Given the description of an element on the screen output the (x, y) to click on. 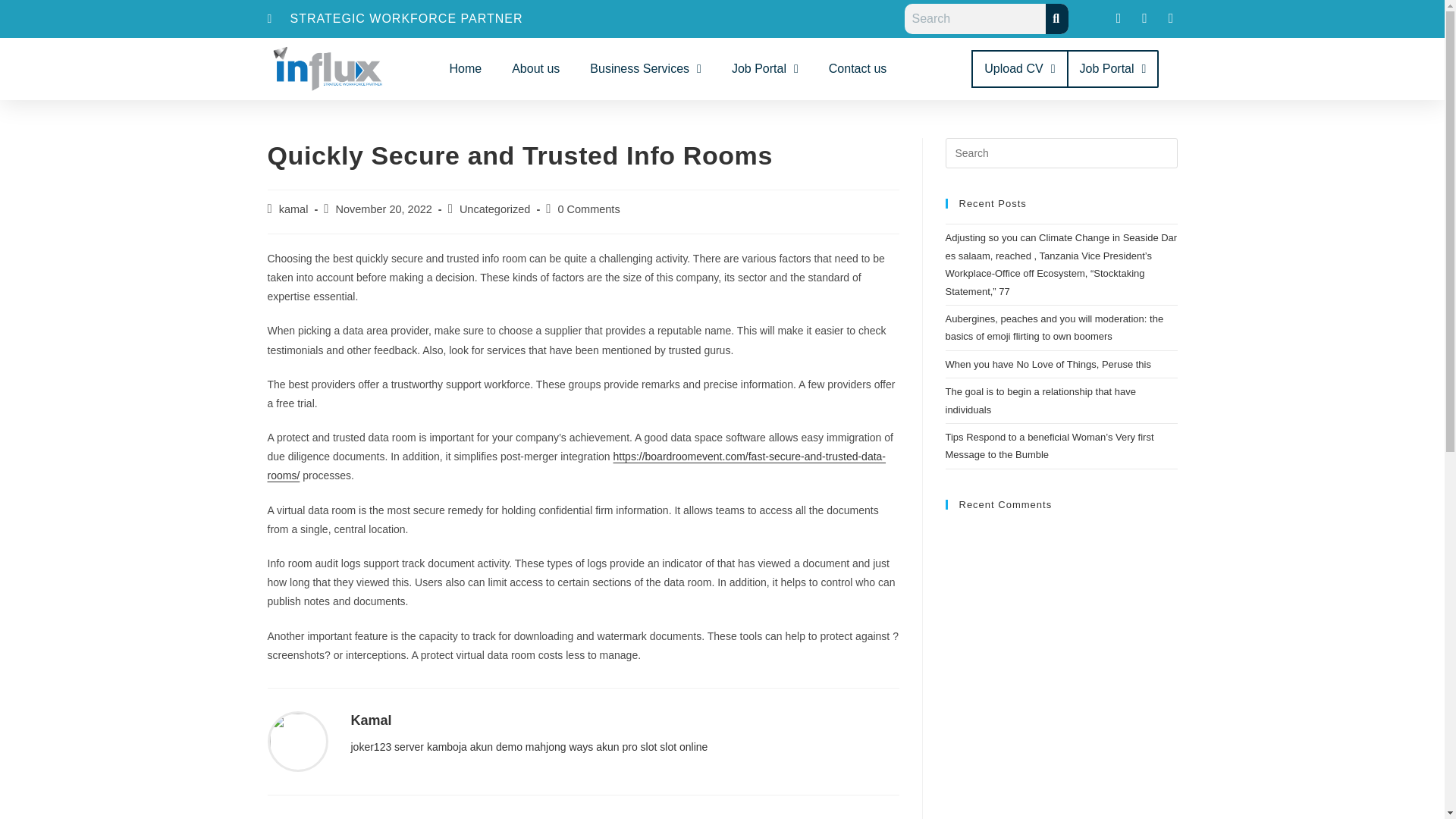
Search (974, 19)
akun demo (496, 746)
Visit Author Page (370, 720)
Upload CV (1019, 68)
joker123 (370, 746)
Visit Author Page (296, 740)
Posts by kamal (293, 209)
kamal (293, 209)
About us (535, 68)
Job Portal (1111, 68)
